Given the description of an element on the screen output the (x, y) to click on. 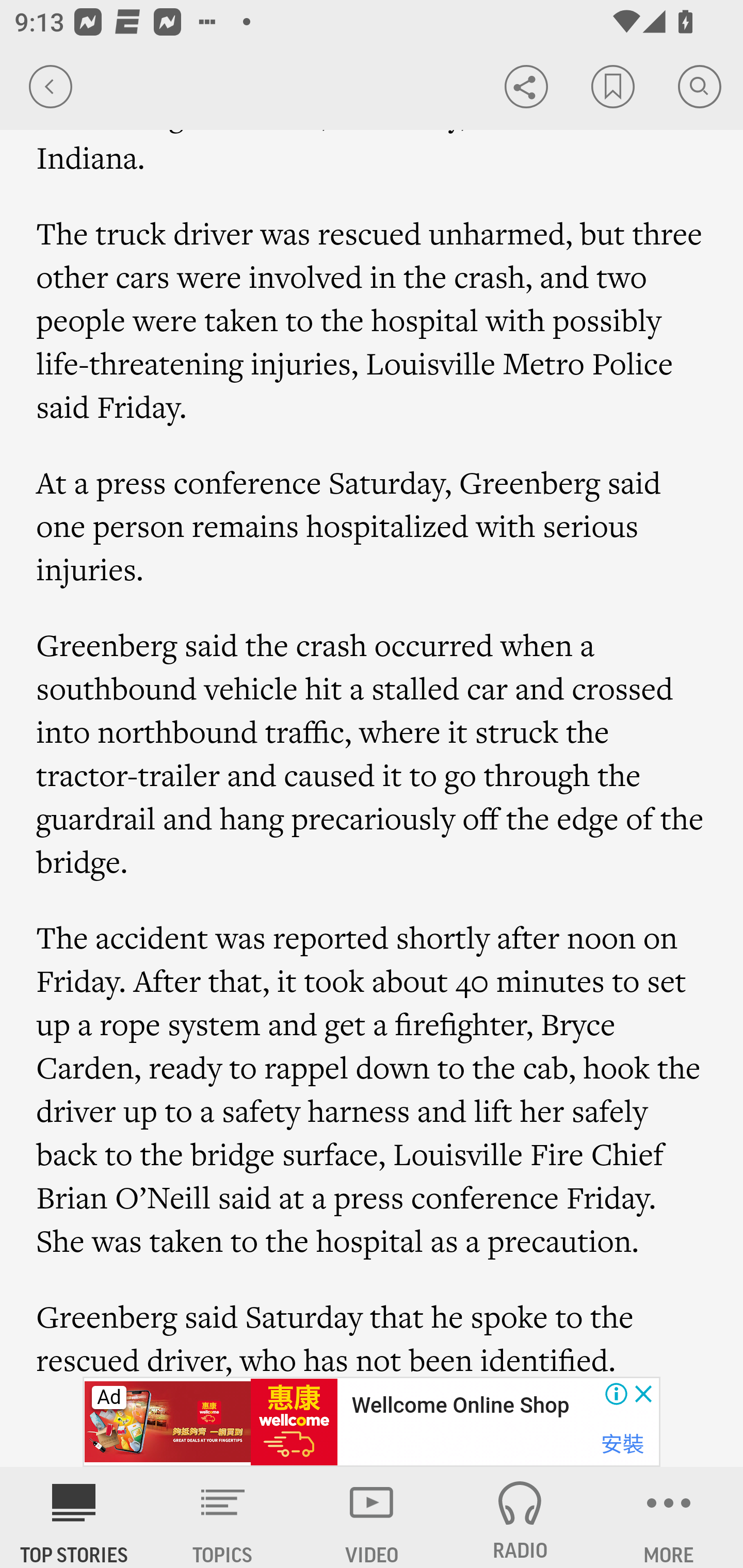
Wellcome Online Shop (459, 1405)
安裝 (621, 1444)
AP News TOP STORIES (74, 1517)
TOPICS (222, 1517)
VIDEO (371, 1517)
RADIO (519, 1517)
MORE (668, 1517)
